Given the description of an element on the screen output the (x, y) to click on. 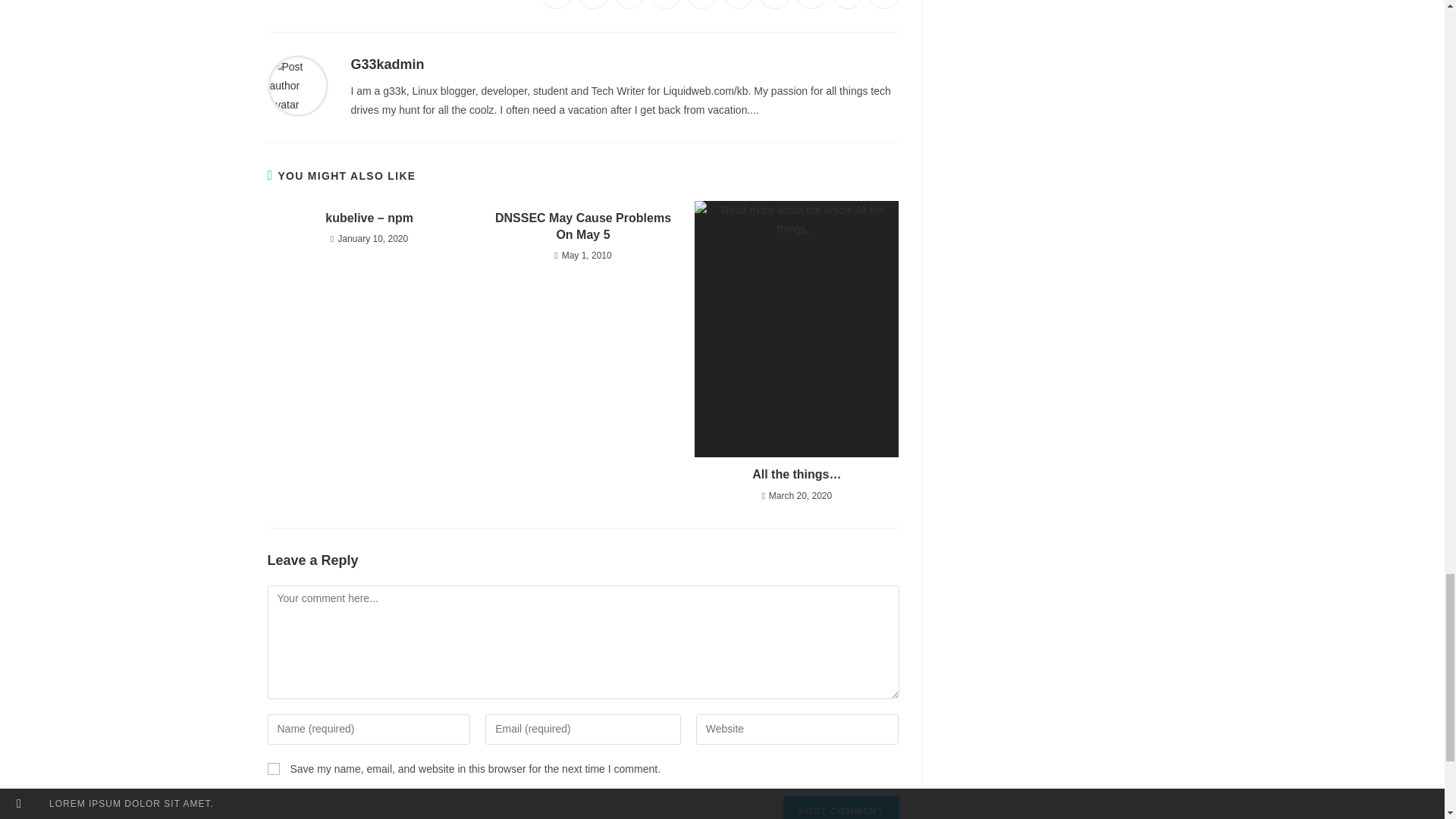
Visit author page (386, 64)
yes (272, 768)
Post Comment (840, 807)
Visit author page (296, 84)
